Given the description of an element on the screen output the (x, y) to click on. 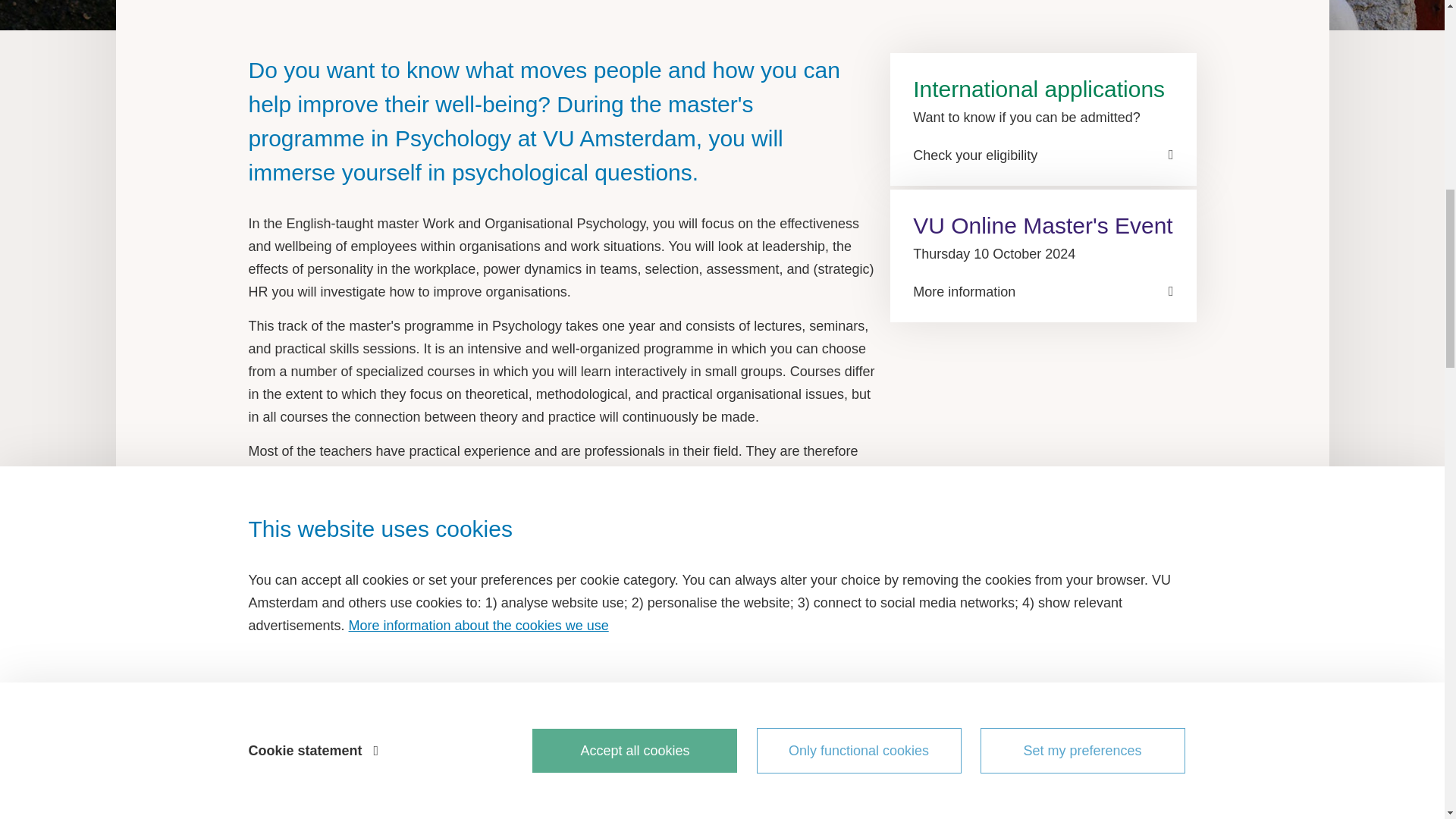
A person with a hoodie is hiding behind a tree (725, 15)
1st year (236, 635)
